Given the description of an element on the screen output the (x, y) to click on. 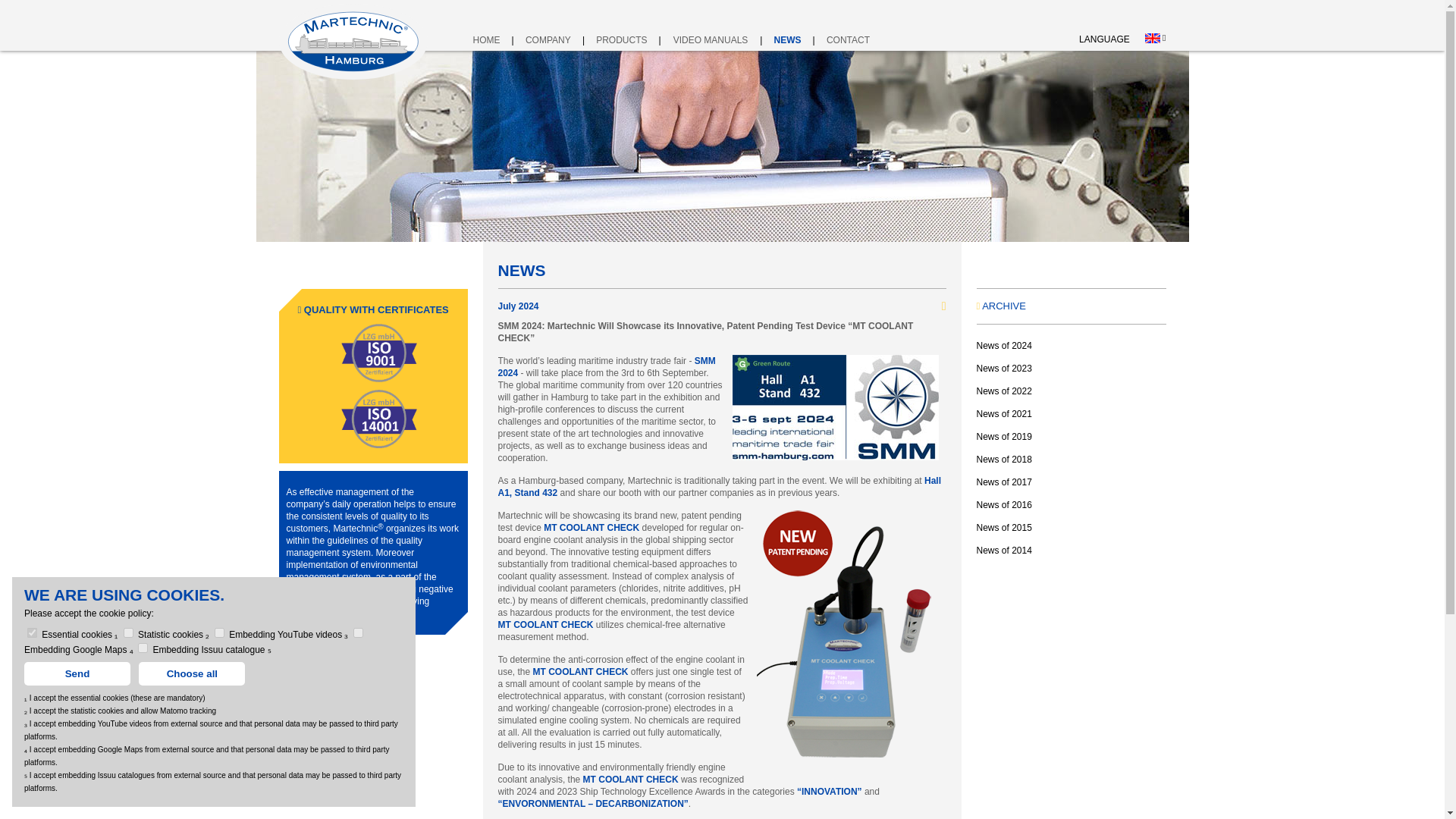
Company (547, 40)
true (357, 633)
Products (620, 40)
Home (486, 40)
Contact (848, 40)
CONTACT (848, 40)
MT COOLANT CHECK (544, 624)
HOME (486, 40)
PRODUCTS (620, 40)
MT COOLANT CHECK (580, 671)
VIDEO MANUALS (710, 40)
SMM 2024 (605, 366)
Video Manuals (710, 40)
MT COOLANT CHECK (591, 527)
true (219, 633)
